Given the description of an element on the screen output the (x, y) to click on. 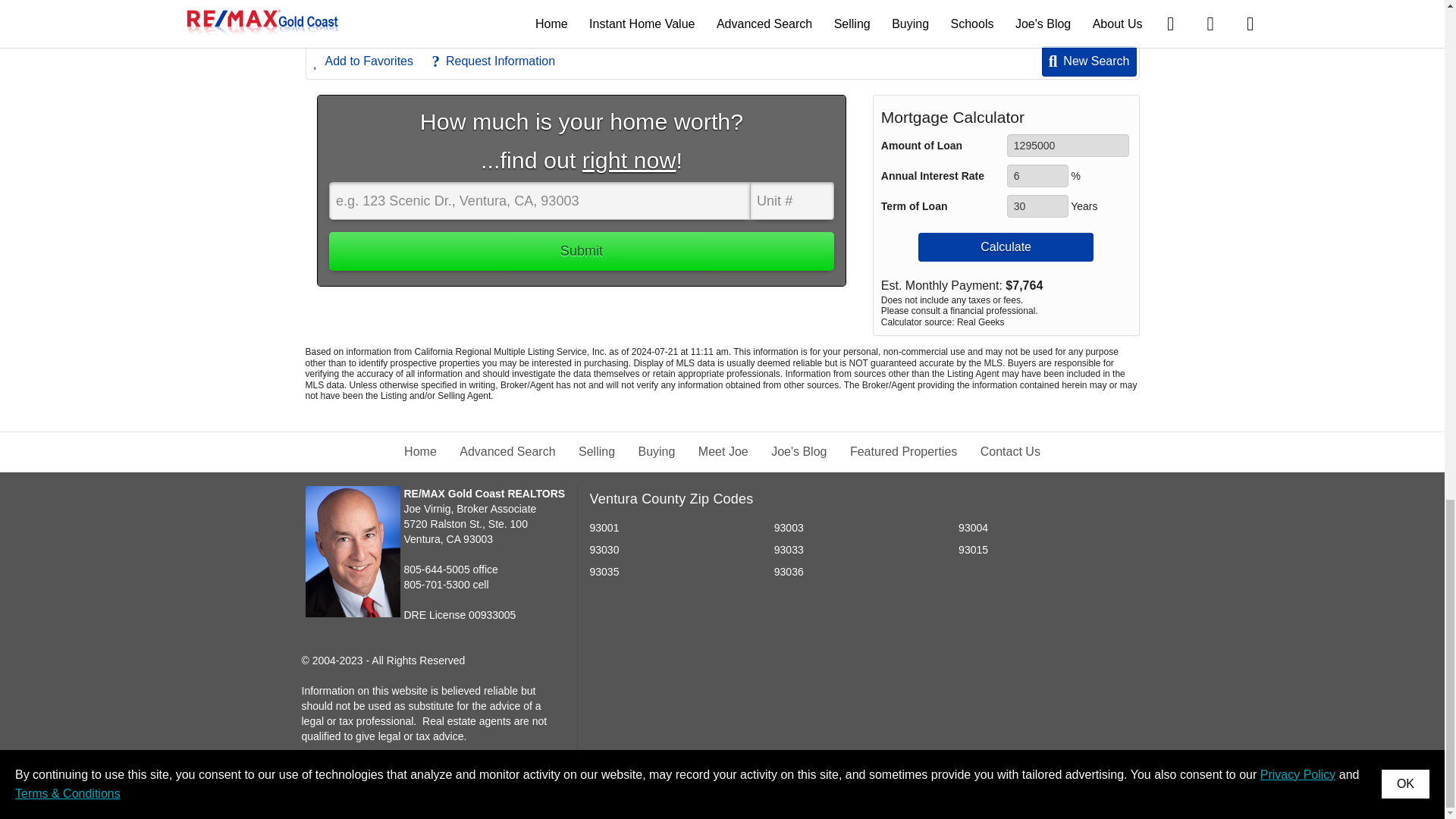
1295000 (1068, 145)
6 (1037, 175)
30 (1037, 205)
